Given the description of an element on the screen output the (x, y) to click on. 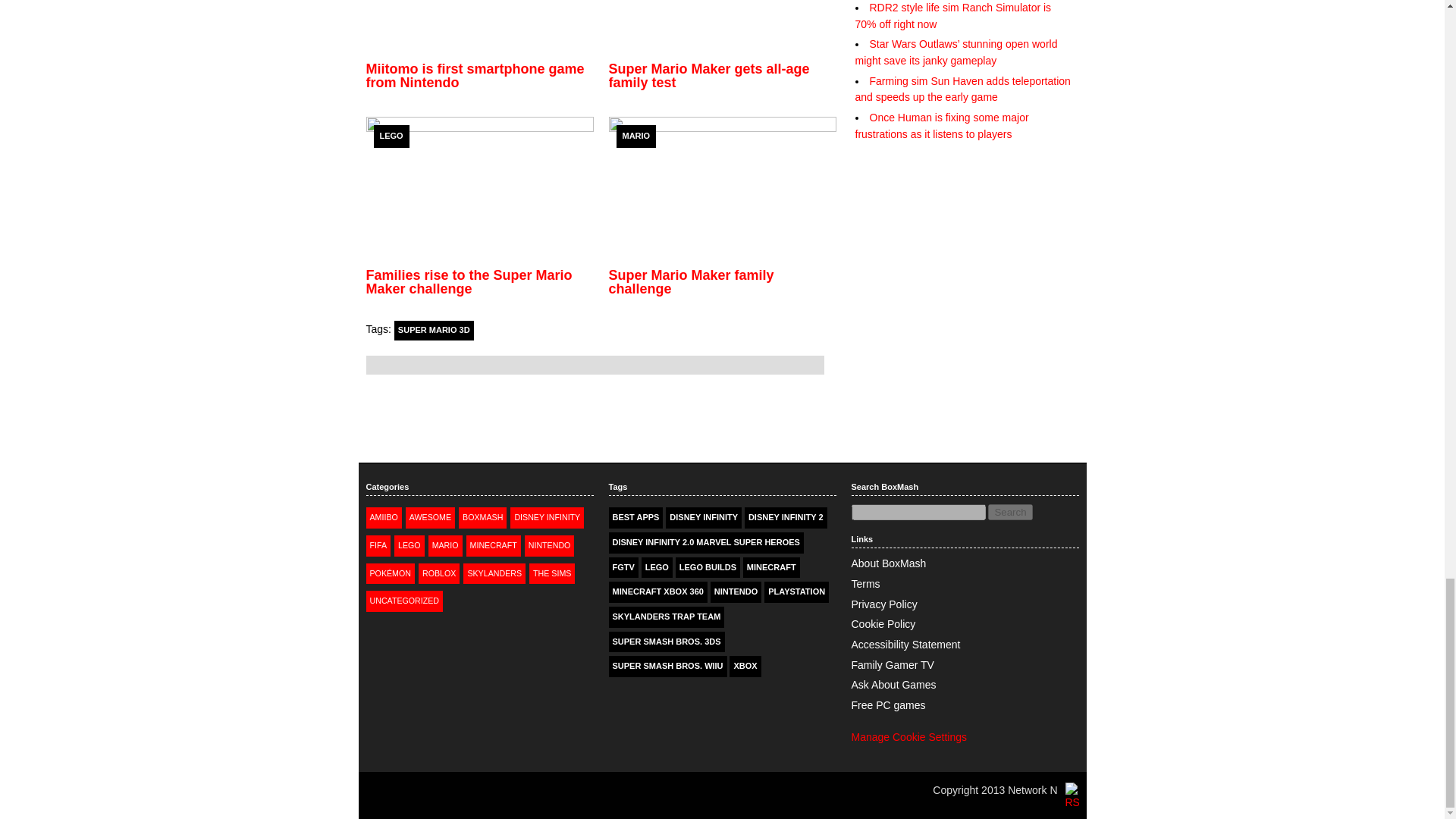
Search (1010, 512)
